Given the description of an element on the screen output the (x, y) to click on. 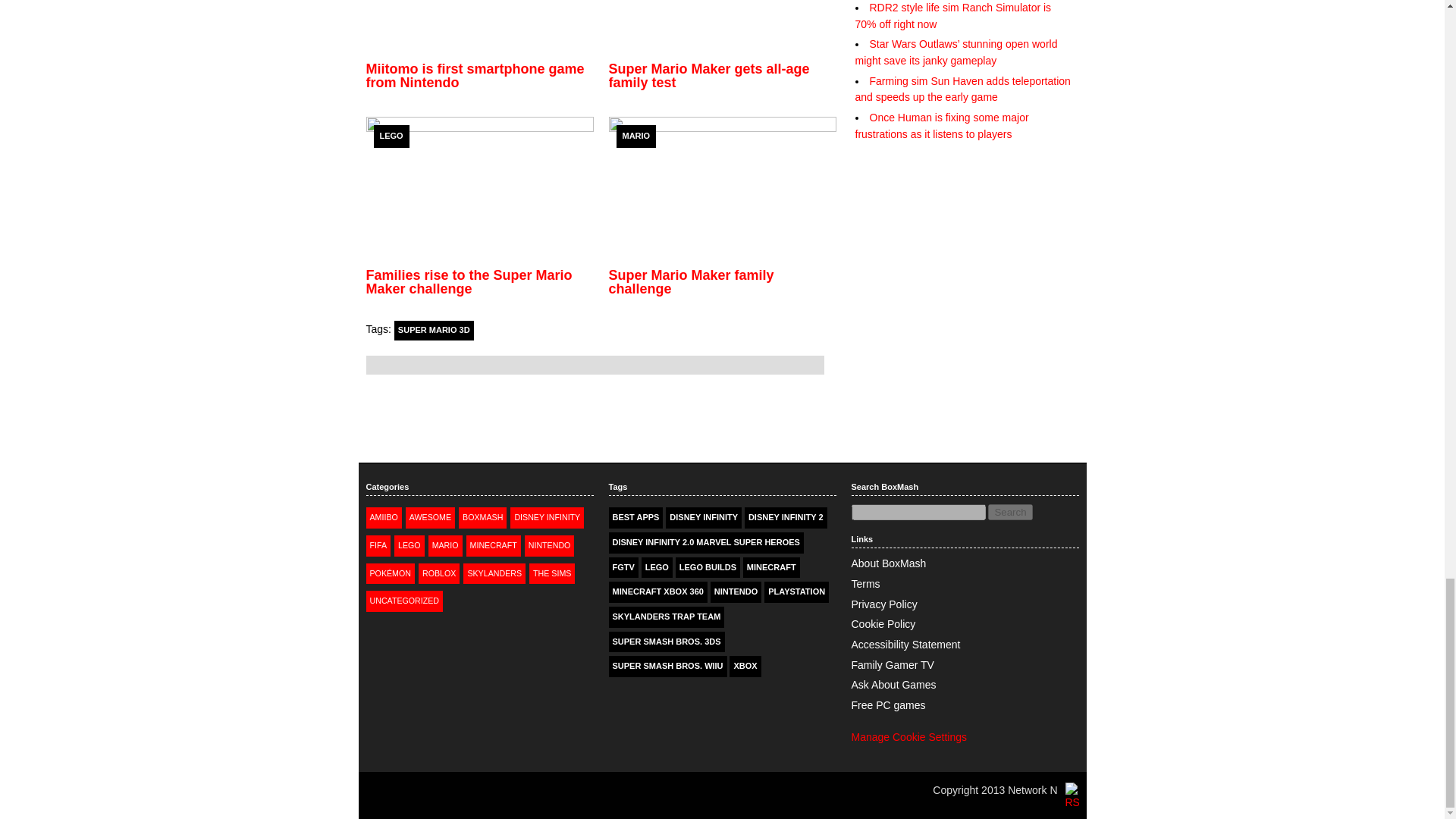
Search (1010, 512)
